Given the description of an element on the screen output the (x, y) to click on. 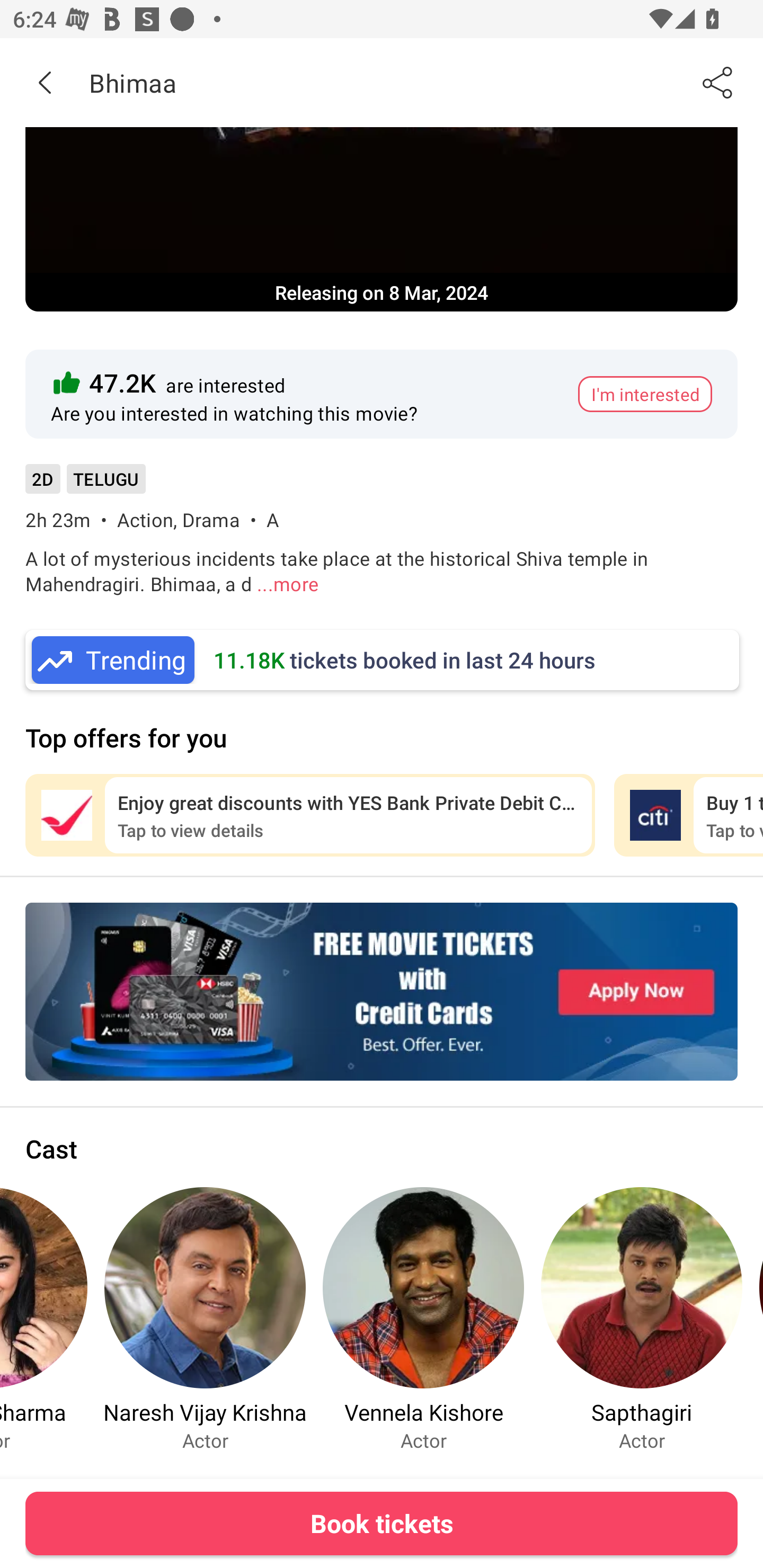
Back (44, 82)
Share (718, 82)
Movie Banner Releasing on 8 Mar, 2024 (381, 219)
I'm interested (644, 394)
2D TELUGU (85, 485)
Naresh Vijay Krishna Actor (204, 1319)
Vennela Kishore Actor (423, 1319)
Sapthagiri Actor (641, 1319)
Book tickets (381, 1523)
